Given the description of an element on the screen output the (x, y) to click on. 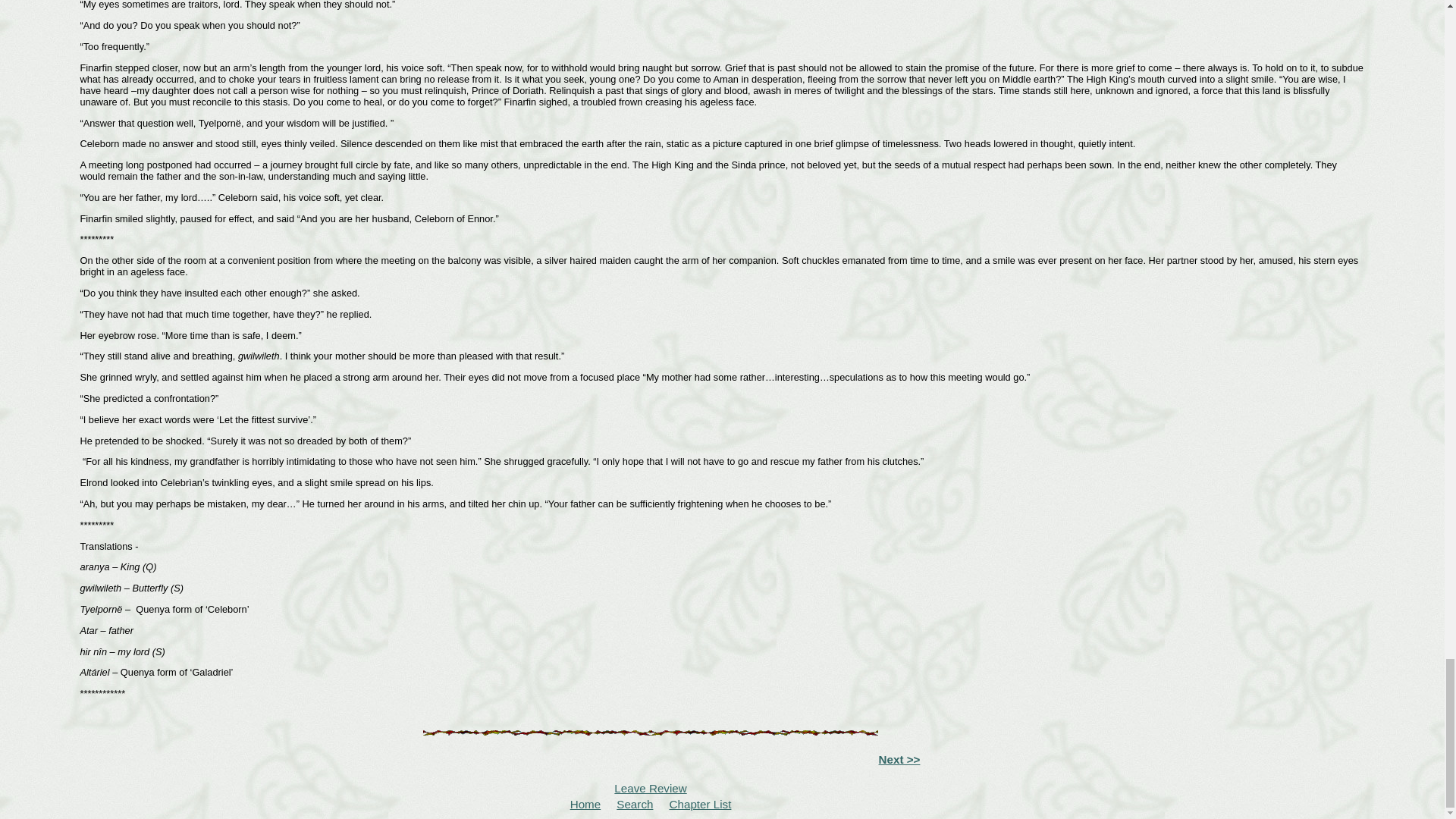
Chapter List (700, 803)
Search (633, 803)
Leave Review (649, 788)
Home (585, 803)
